Given the description of an element on the screen output the (x, y) to click on. 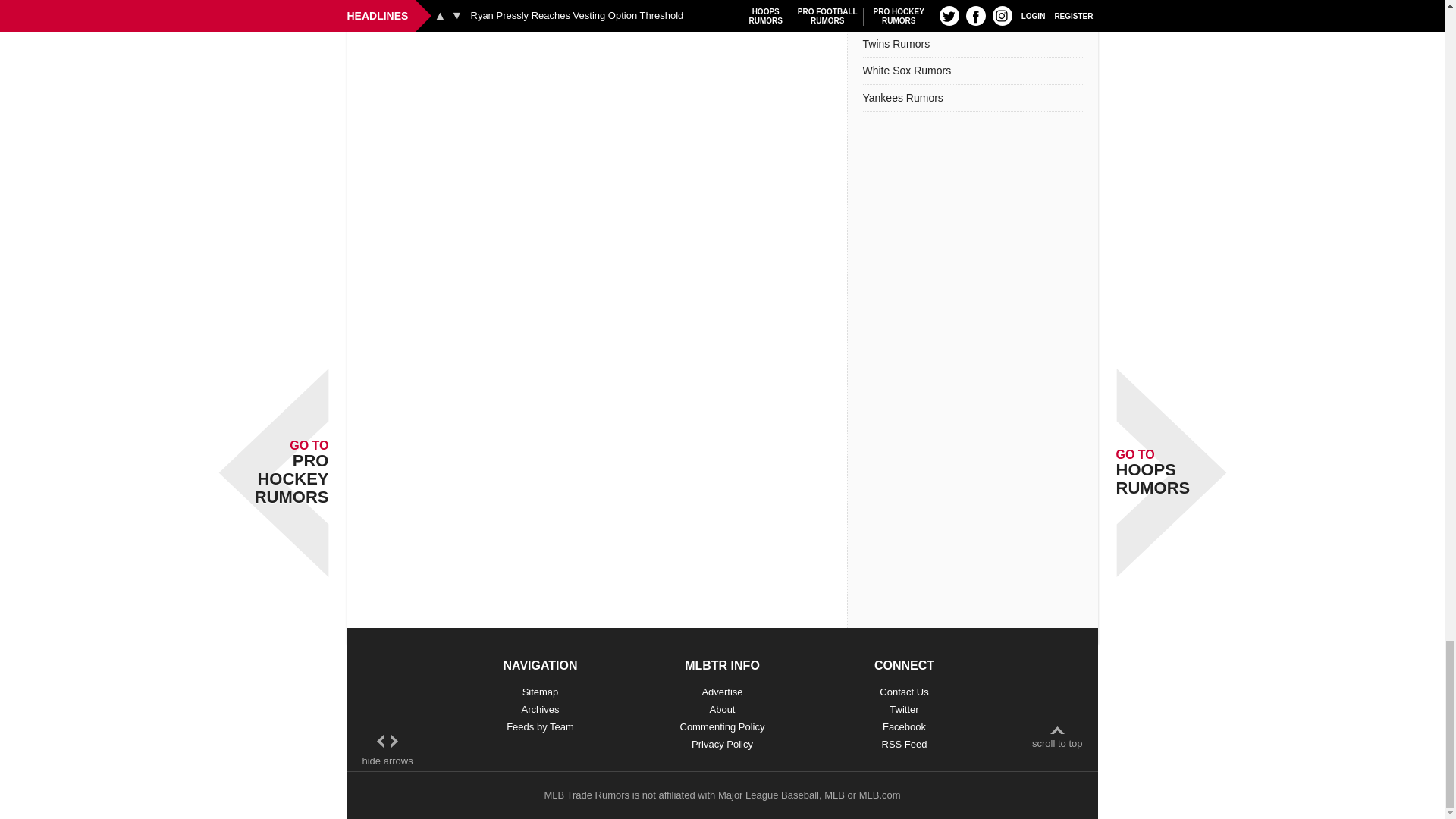
MLB Trade Rumors (585, 794)
